Given the description of an element on the screen output the (x, y) to click on. 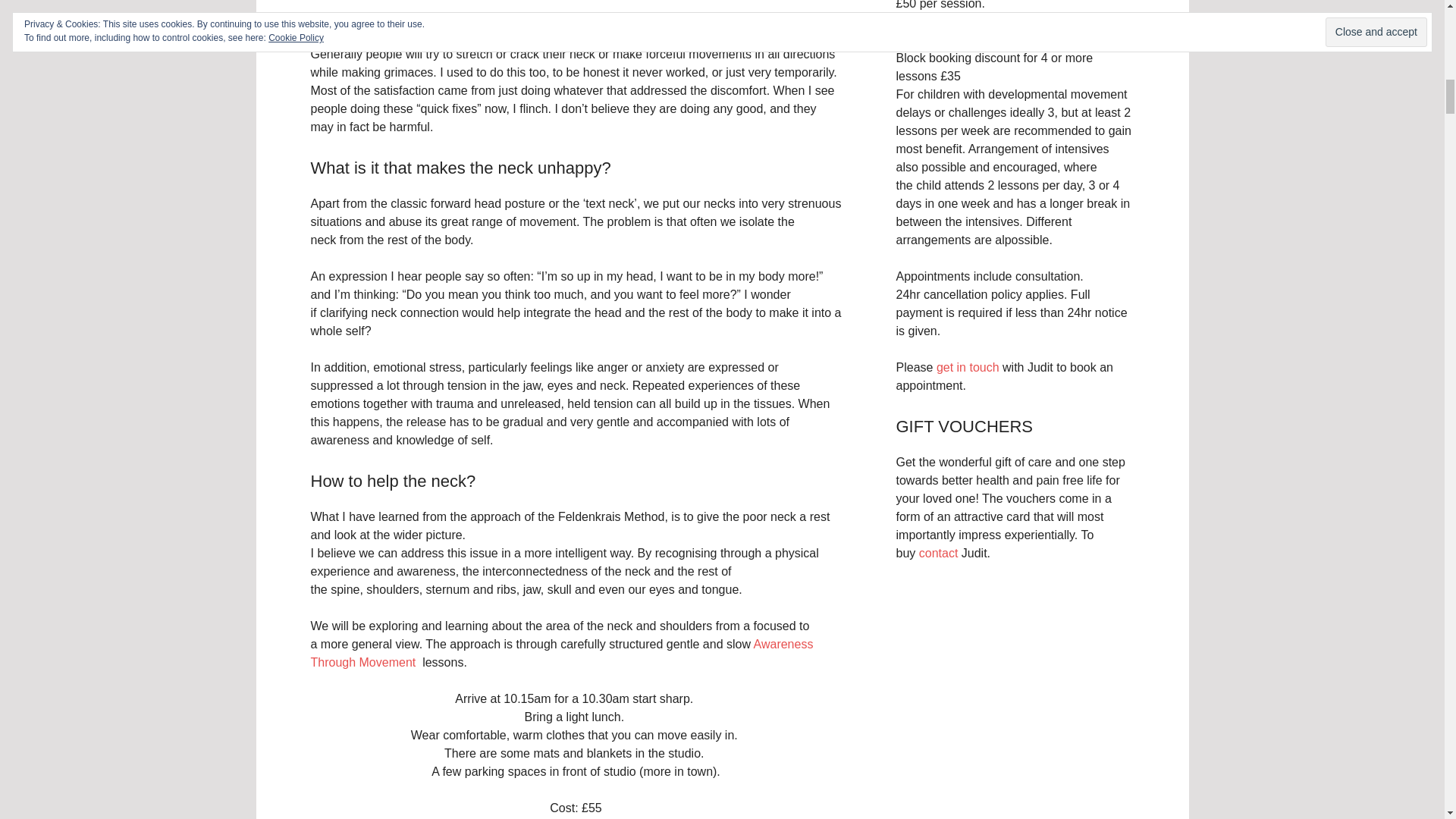
Awareness Through Movement  (562, 653)
